Given the description of an element on the screen output the (x, y) to click on. 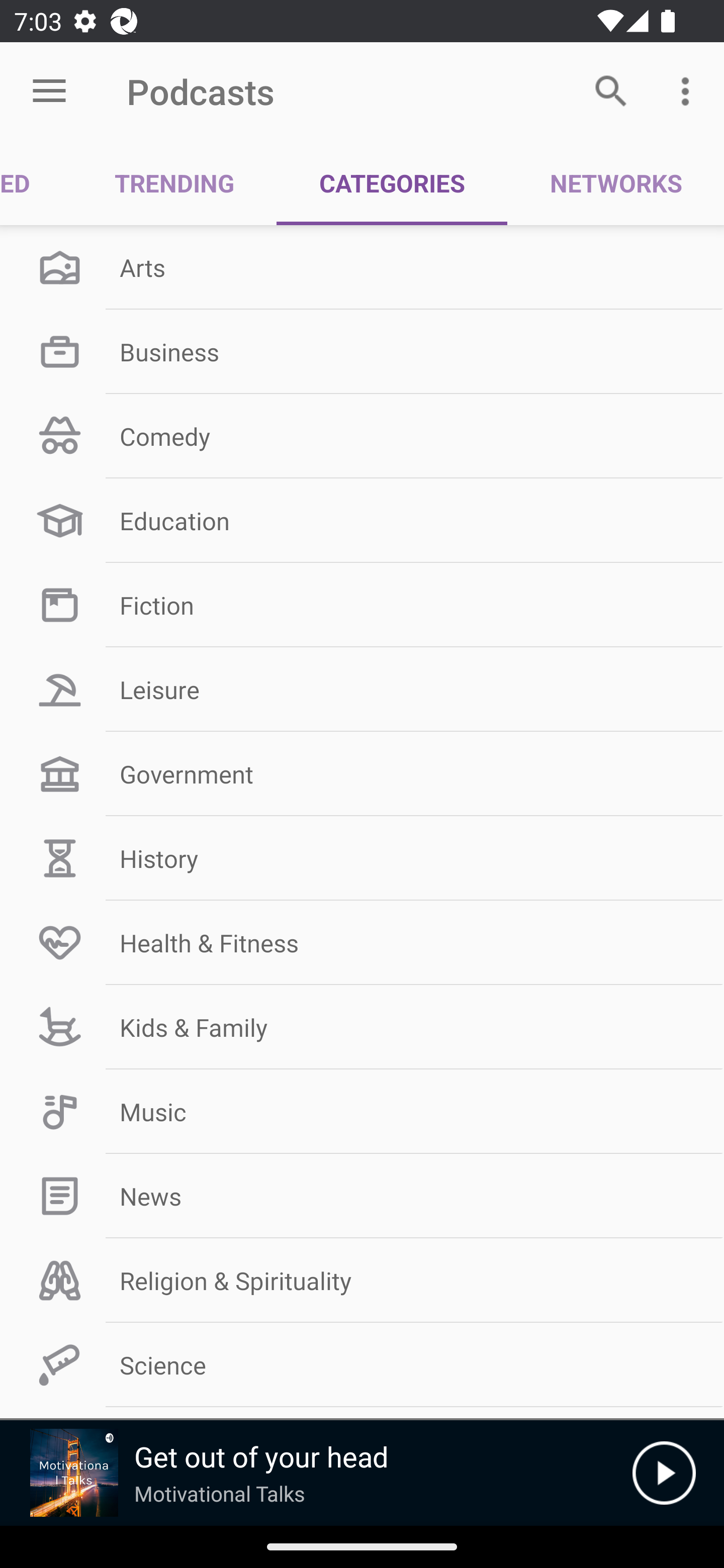
Open menu (49, 91)
Search (611, 90)
More options (688, 90)
TRENDING (174, 183)
CATEGORIES (391, 183)
NETWORKS (615, 183)
Arts (362, 266)
Business (362, 350)
Comedy (362, 435)
Education (362, 520)
Fiction (362, 604)
Leisure (362, 689)
Government (362, 774)
History (362, 858)
Health & Fitness (362, 942)
Kids & Family (362, 1026)
Music (362, 1111)
News (362, 1196)
Religion & Spirituality (362, 1280)
Science (362, 1364)
Picture Get out of your head Motivational Talks (316, 1472)
Play (663, 1472)
